Given the description of an element on the screen output the (x, y) to click on. 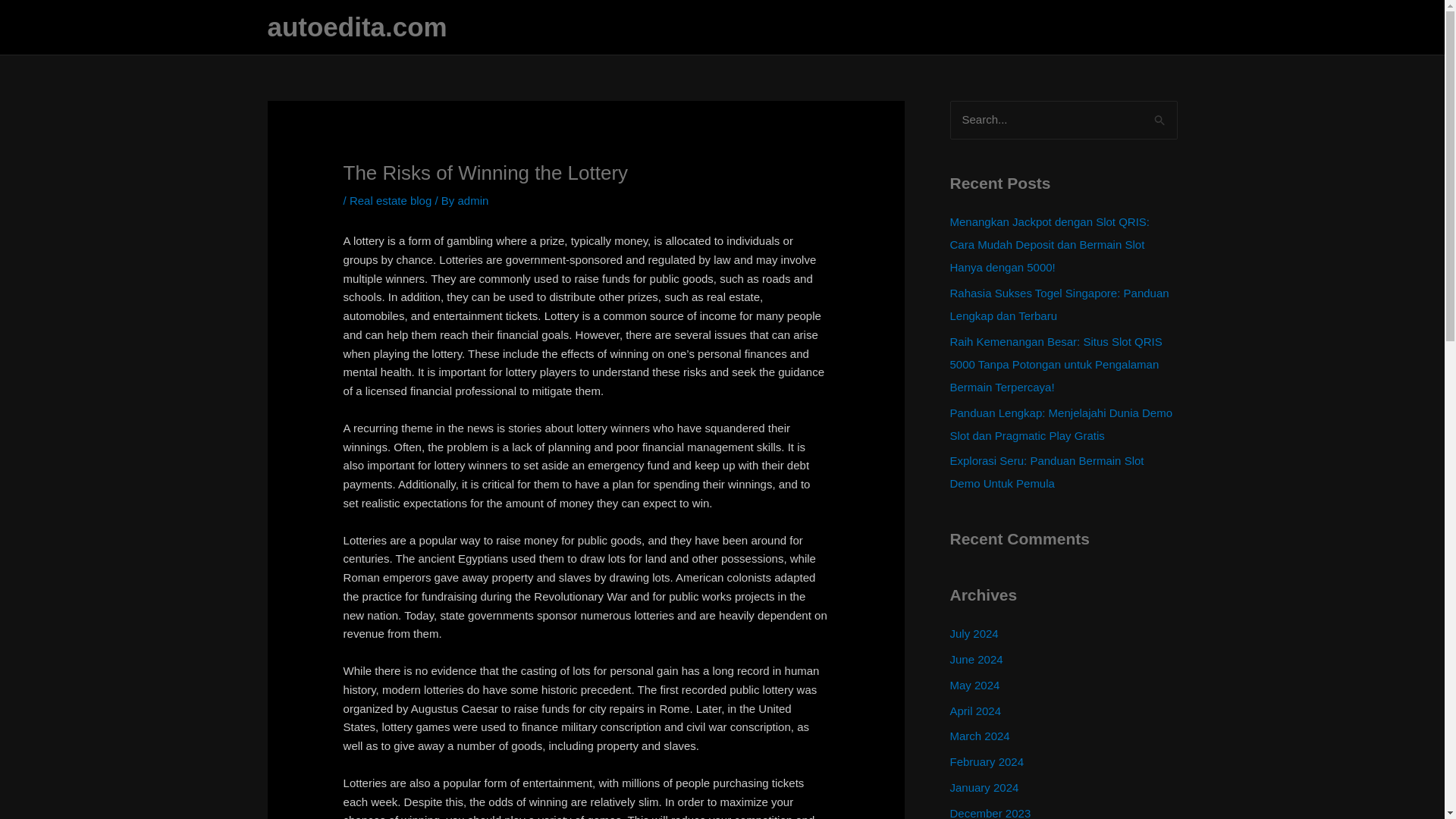
December 2023 (989, 812)
admin (472, 200)
Real estate blog (389, 200)
January 2024 (983, 787)
Rahasia Sukses Togel Singapore: Panduan Lengkap dan Terbaru (1059, 304)
July 2024 (973, 633)
View all posts by admin (472, 200)
May 2024 (973, 684)
Search (1159, 115)
Explorasi Seru: Panduan Bermain Slot Demo Untuk Pemula (1045, 471)
June 2024 (976, 658)
Search (1159, 115)
